Given the description of an element on the screen output the (x, y) to click on. 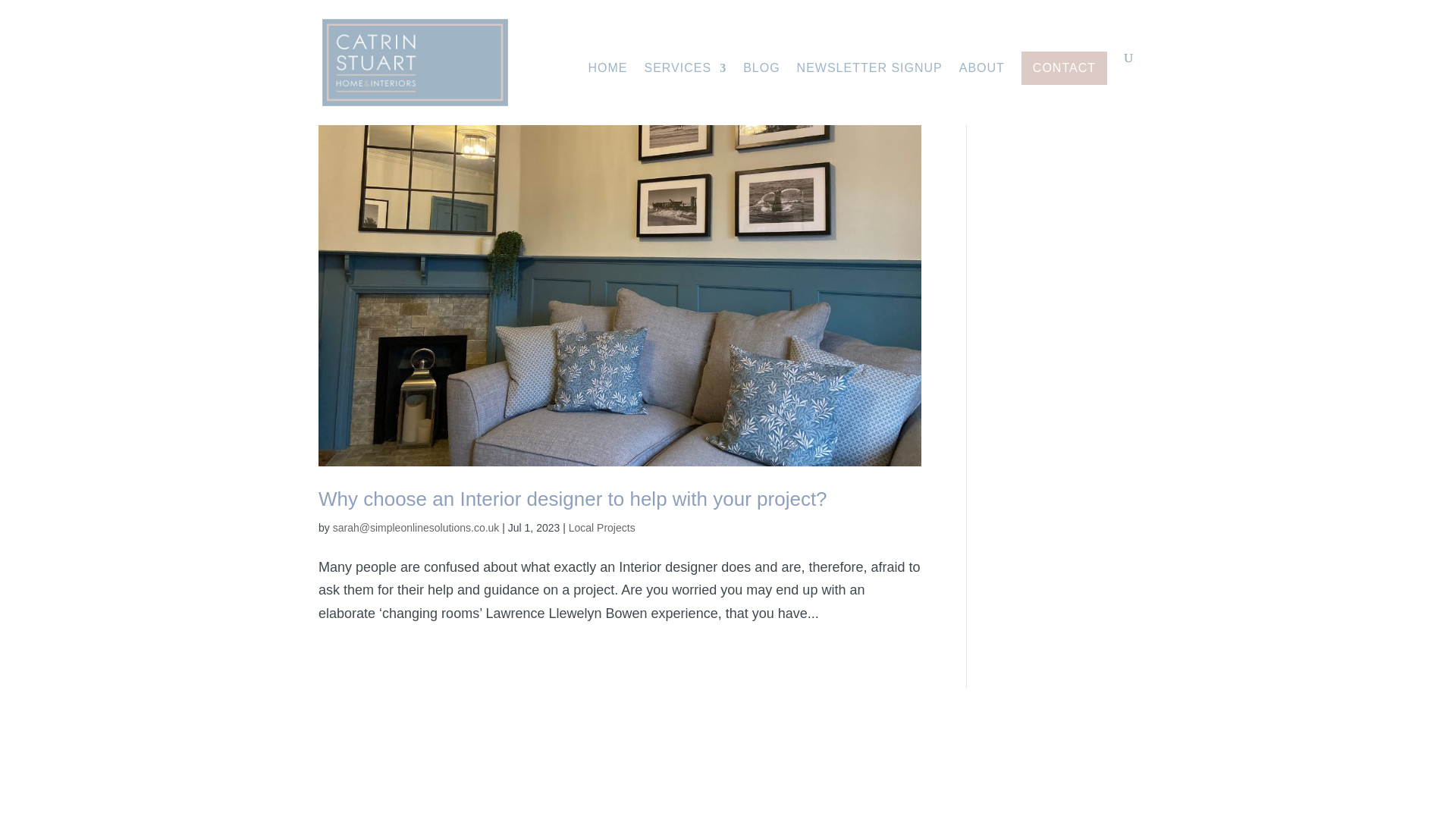
Why choose an Interior designer to help with your project? (572, 498)
Local Projects (601, 527)
NEWSLETTER SIGNUP (869, 94)
SERVICES (685, 94)
CONTACT (1064, 68)
